Given the description of an element on the screen output the (x, y) to click on. 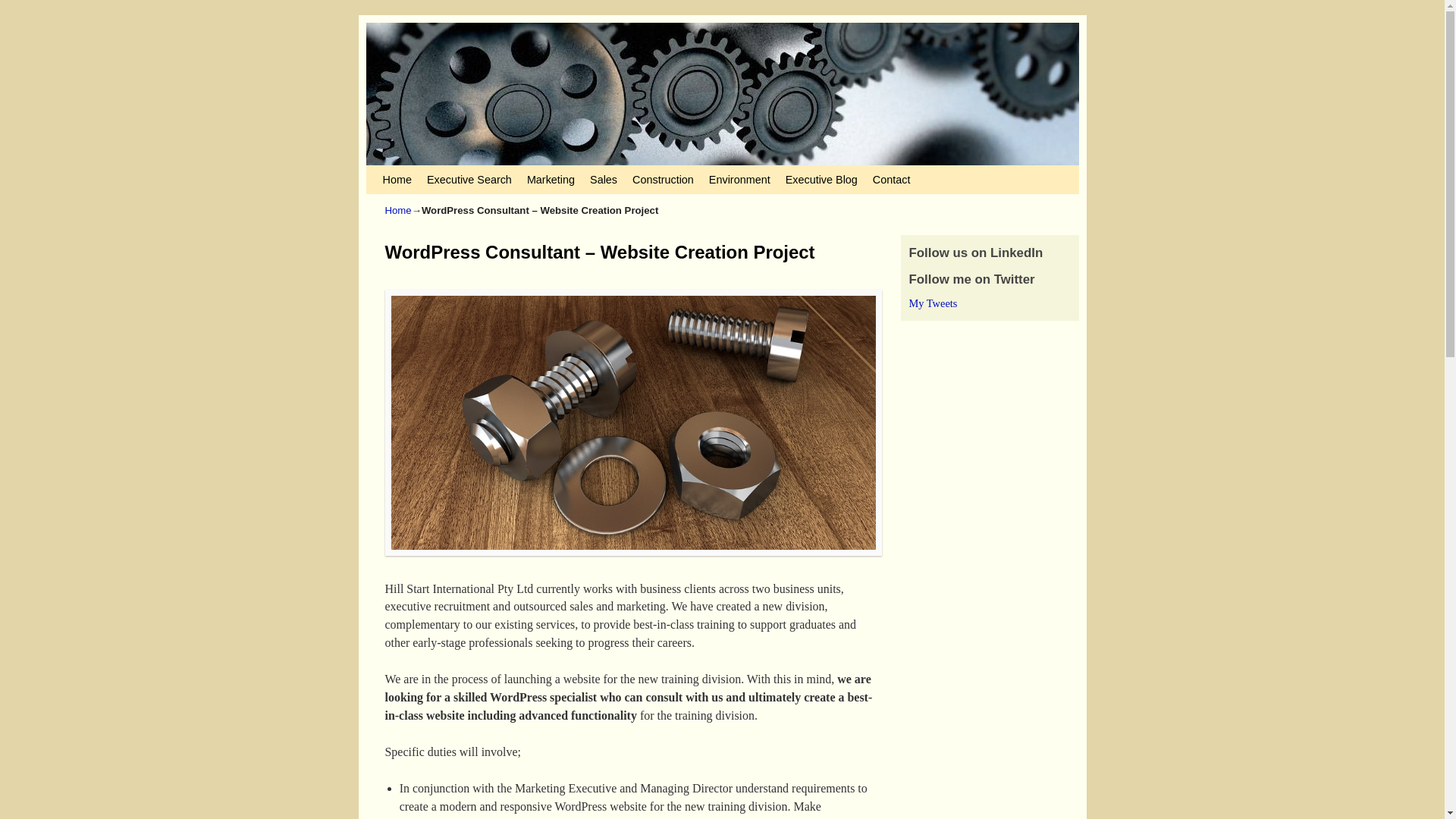
Skip to primary content (408, 172)
Marketing (550, 179)
My Tweets (932, 303)
Executive Search (469, 179)
Skip to secondary content (412, 172)
Sales (603, 179)
Executive Blog (820, 179)
Home (396, 179)
Contact (891, 179)
Home (398, 210)
